Given the description of an element on the screen output the (x, y) to click on. 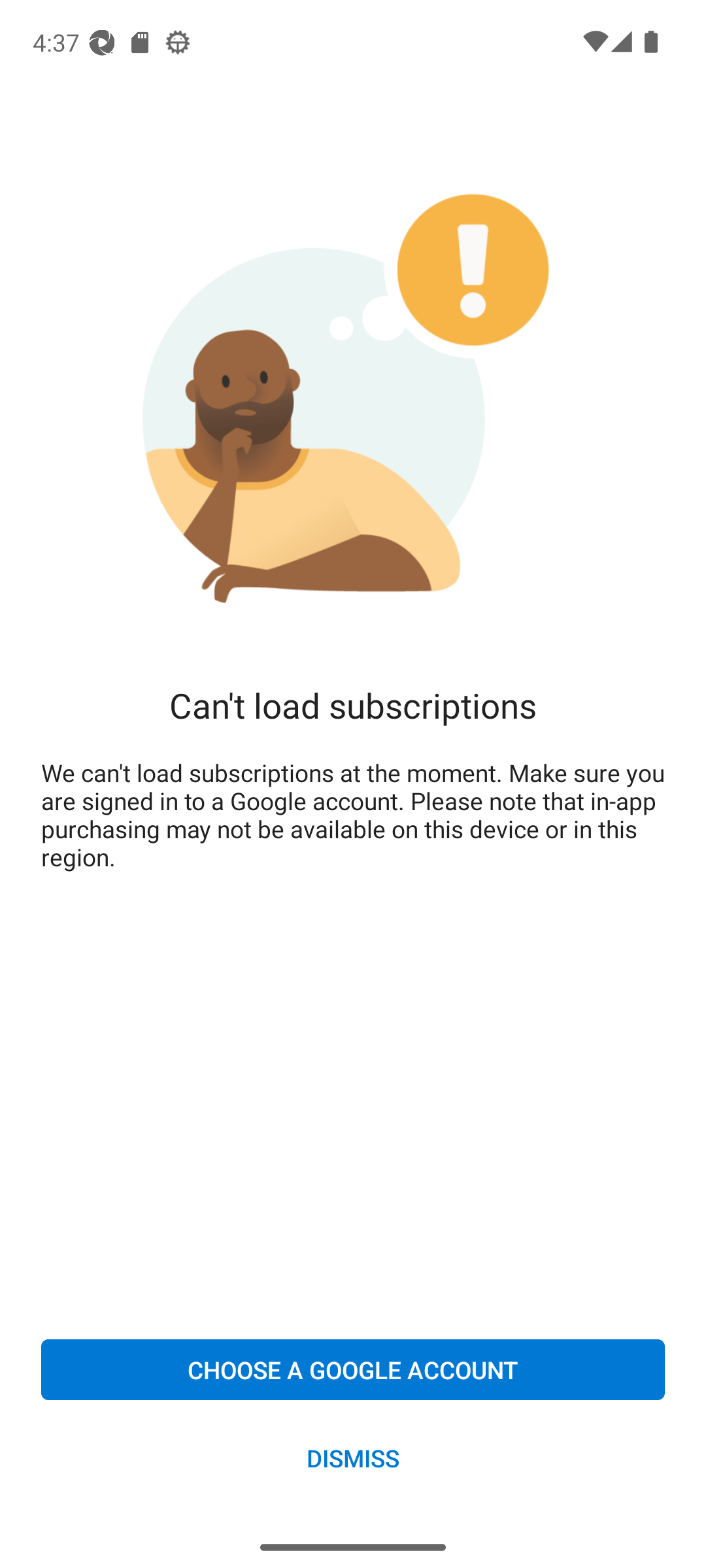
CHOOSE A GOOGLE ACCOUNT (352, 1369)
DISMISS (352, 1457)
